Given the description of an element on the screen output the (x, y) to click on. 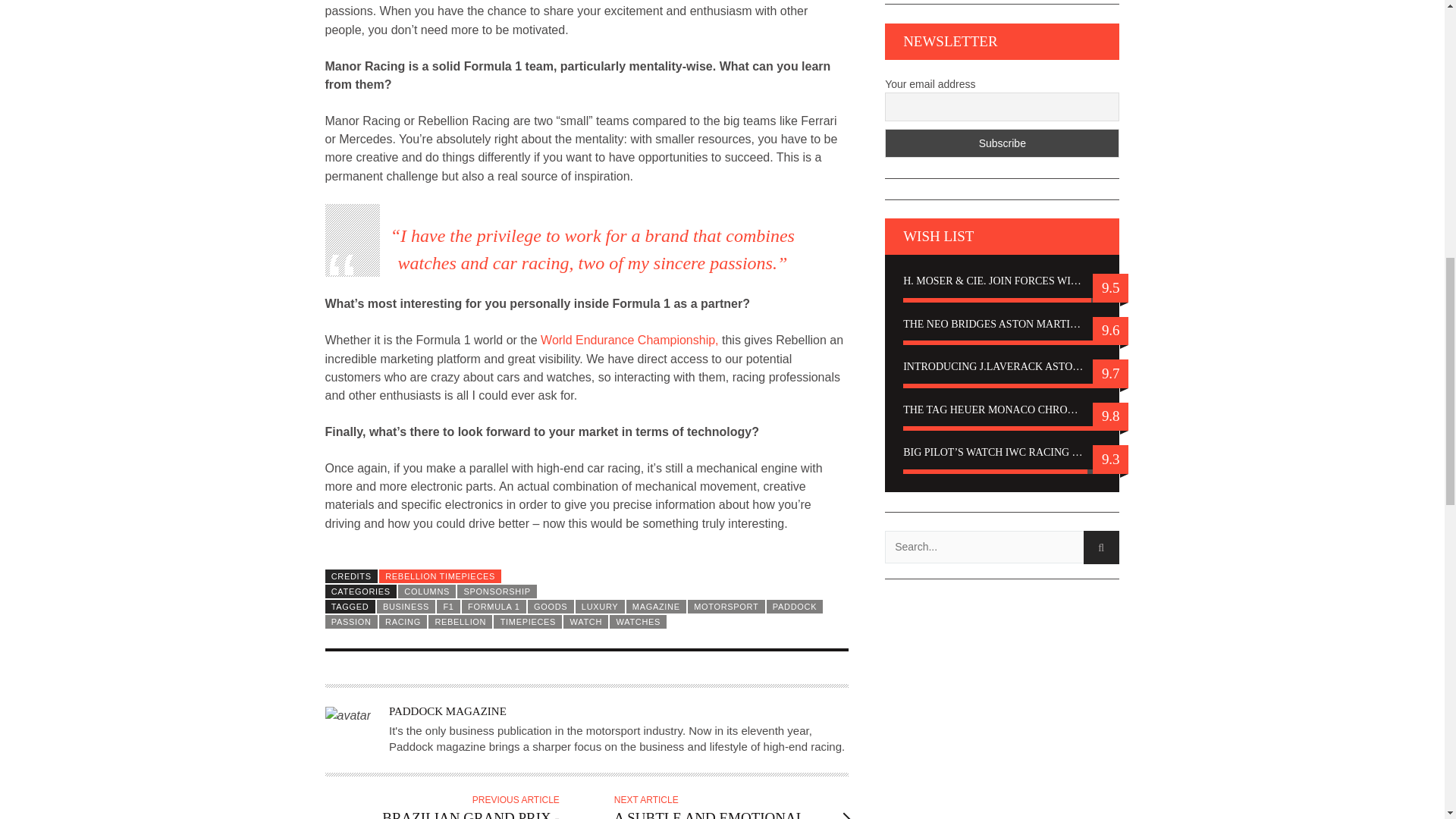
View all posts in Columns (426, 591)
View all posts in Sponsorship (497, 591)
View all posts tagged motorsport (726, 606)
View all posts tagged Paddock (795, 606)
View all posts tagged Rebellion (460, 621)
View all posts tagged F1 (448, 606)
View all posts tagged magazine (655, 606)
View all posts tagged goods (550, 606)
Subscribe (1002, 143)
View all posts tagged business (406, 606)
View all posts tagged passion (350, 621)
View all posts tagged racing (402, 621)
View all posts tagged Formula 1 (493, 606)
View all posts tagged luxury (599, 606)
